Given the description of an element on the screen output the (x, y) to click on. 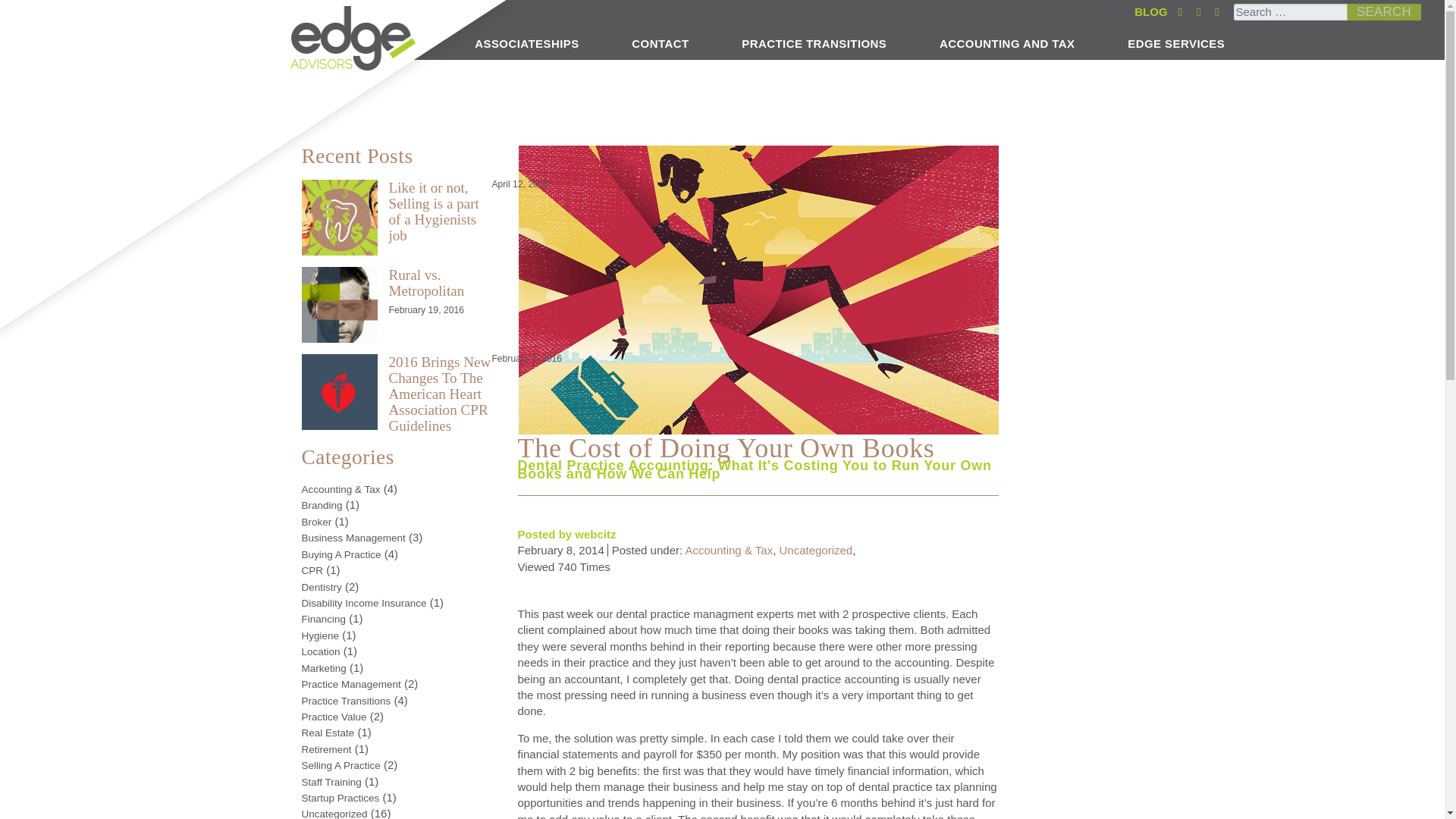
About Us (390, 43)
Practice Transitions (813, 43)
ACCOUNTING AND TAX (1006, 43)
Accounting and Tax (1006, 43)
ASSOCIATESHIPS (526, 43)
EDGE SERVICES (1175, 43)
CONTACT (659, 43)
Search (1383, 11)
Search (1383, 11)
PRACTICE TRANSITIONS (813, 43)
